Given the description of an element on the screen output the (x, y) to click on. 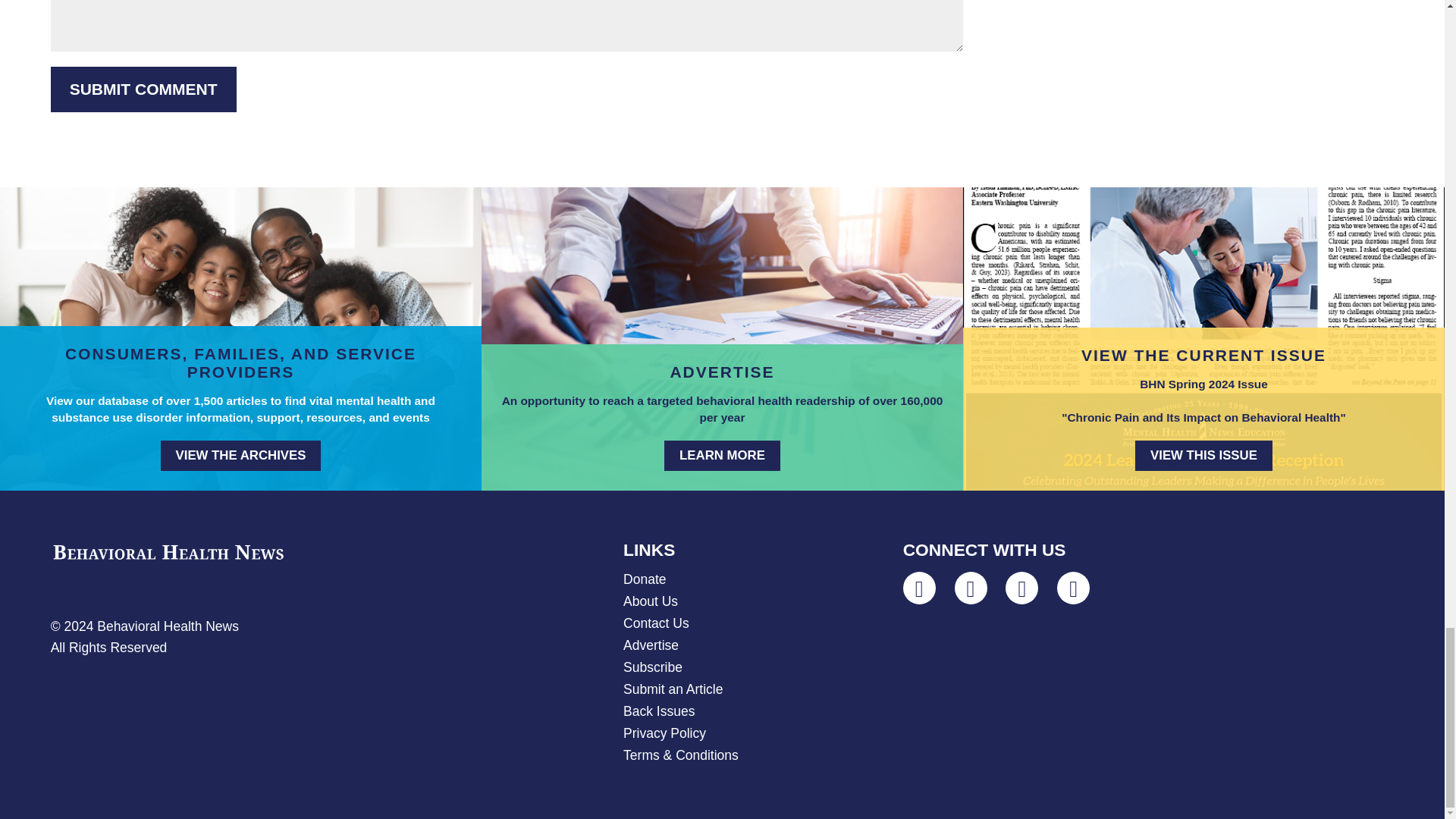
Submit Comment (142, 89)
